Given the description of an element on the screen output the (x, y) to click on. 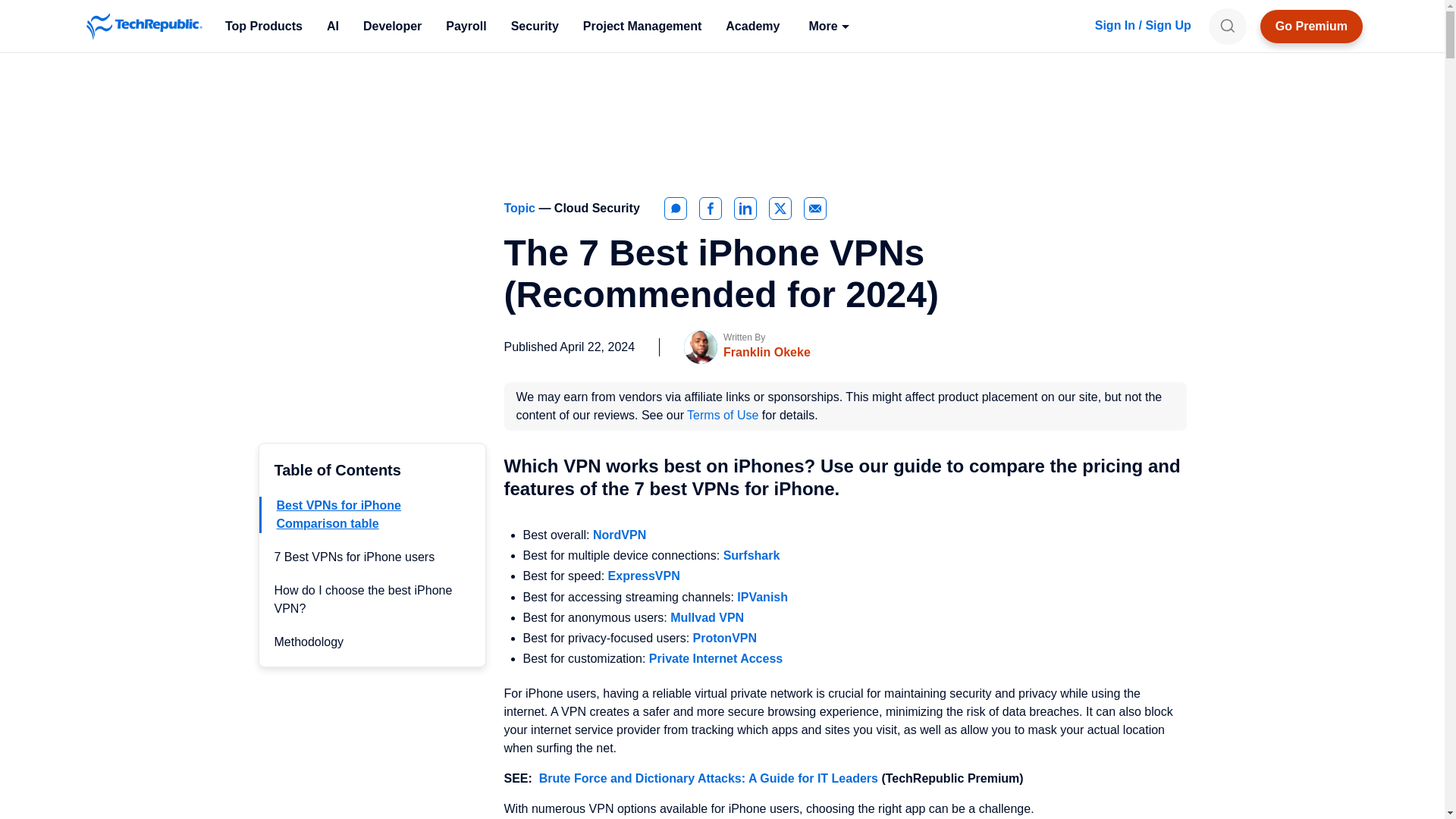
How do I choose the best iPhone VPN? (363, 599)
Academy (752, 26)
Payroll (465, 26)
Best VPNs for iPhone Comparison table (338, 513)
Methodology (309, 641)
TechRepublic Premium (1311, 25)
Top Products (263, 26)
Topic (520, 207)
Go Premium (1311, 25)
7 Best VPNs for iPhone users (355, 556)
TechRepublic (143, 25)
Project Management (641, 26)
Developer (392, 26)
TechRepublic (143, 25)
Security (534, 26)
